Given the description of an element on the screen output the (x, y) to click on. 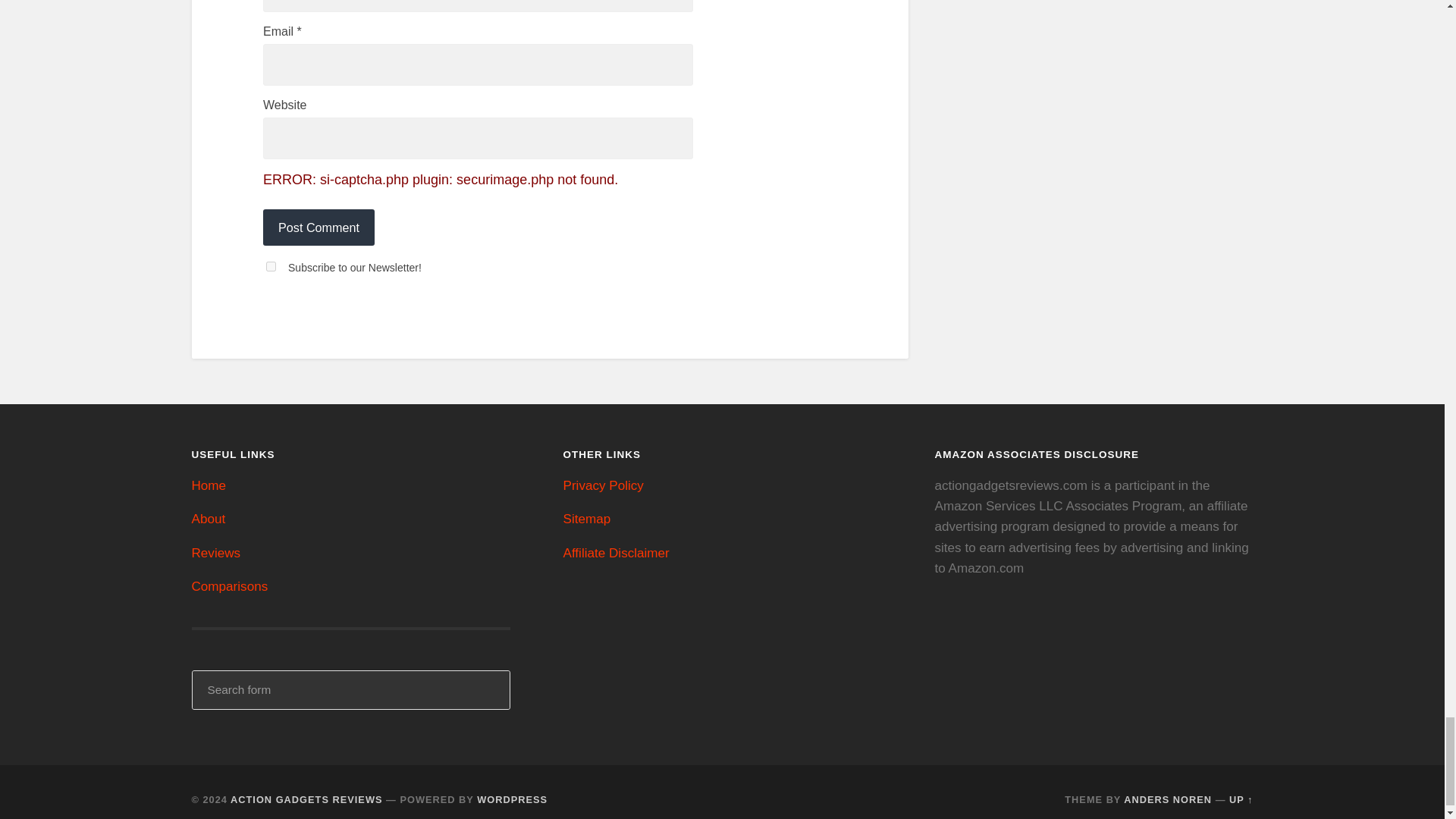
Search (488, 689)
Search (488, 689)
1 (271, 266)
Post Comment (318, 227)
